Given the description of an element on the screen output the (x, y) to click on. 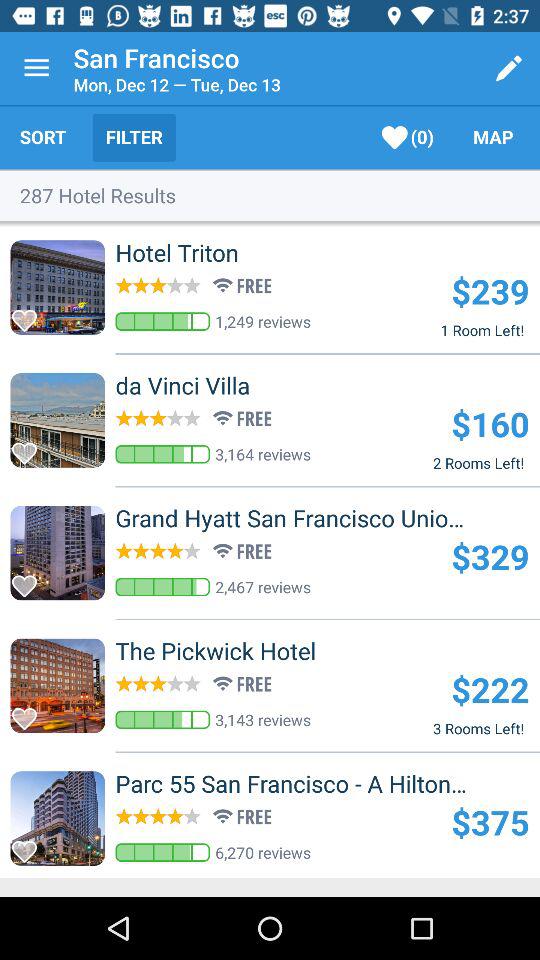
add to favourites (30, 580)
